Given the description of an element on the screen output the (x, y) to click on. 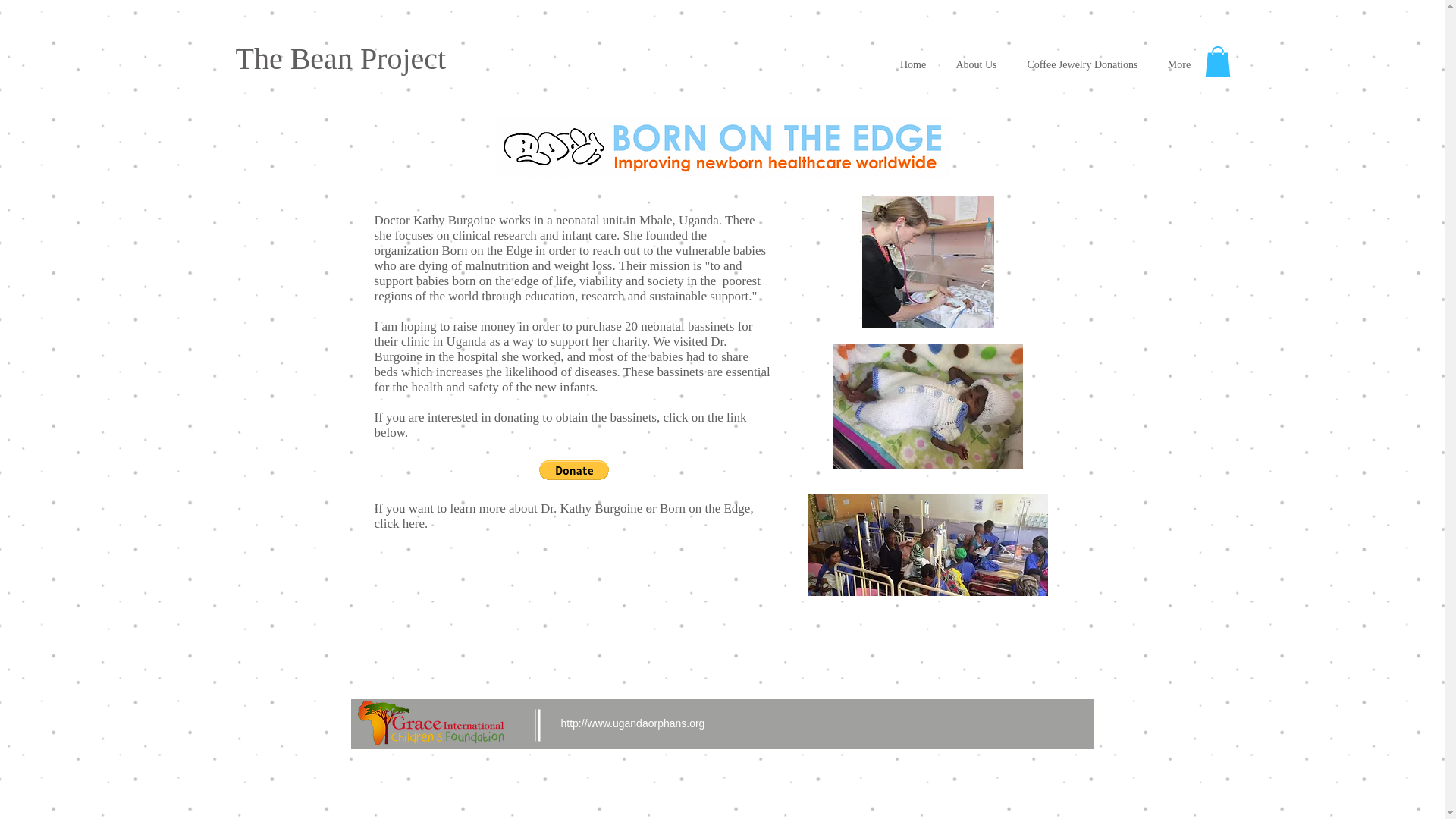
About Us (975, 64)
here. (415, 523)
Home (912, 64)
Coffee Jewelry Donations (1082, 64)
